Given the description of an element on the screen output the (x, y) to click on. 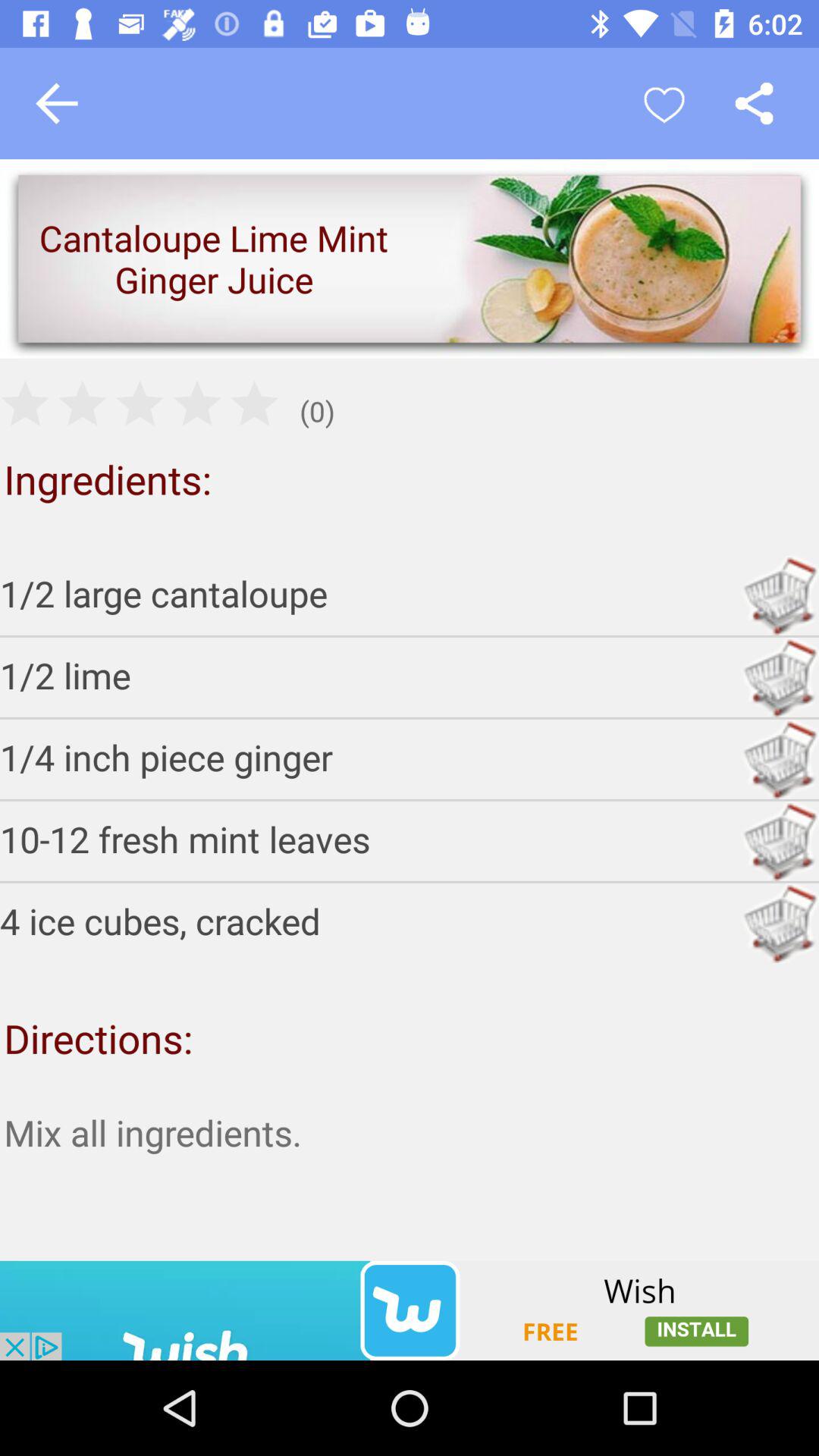
go to install wish app (409, 1310)
